Given the description of an element on the screen output the (x, y) to click on. 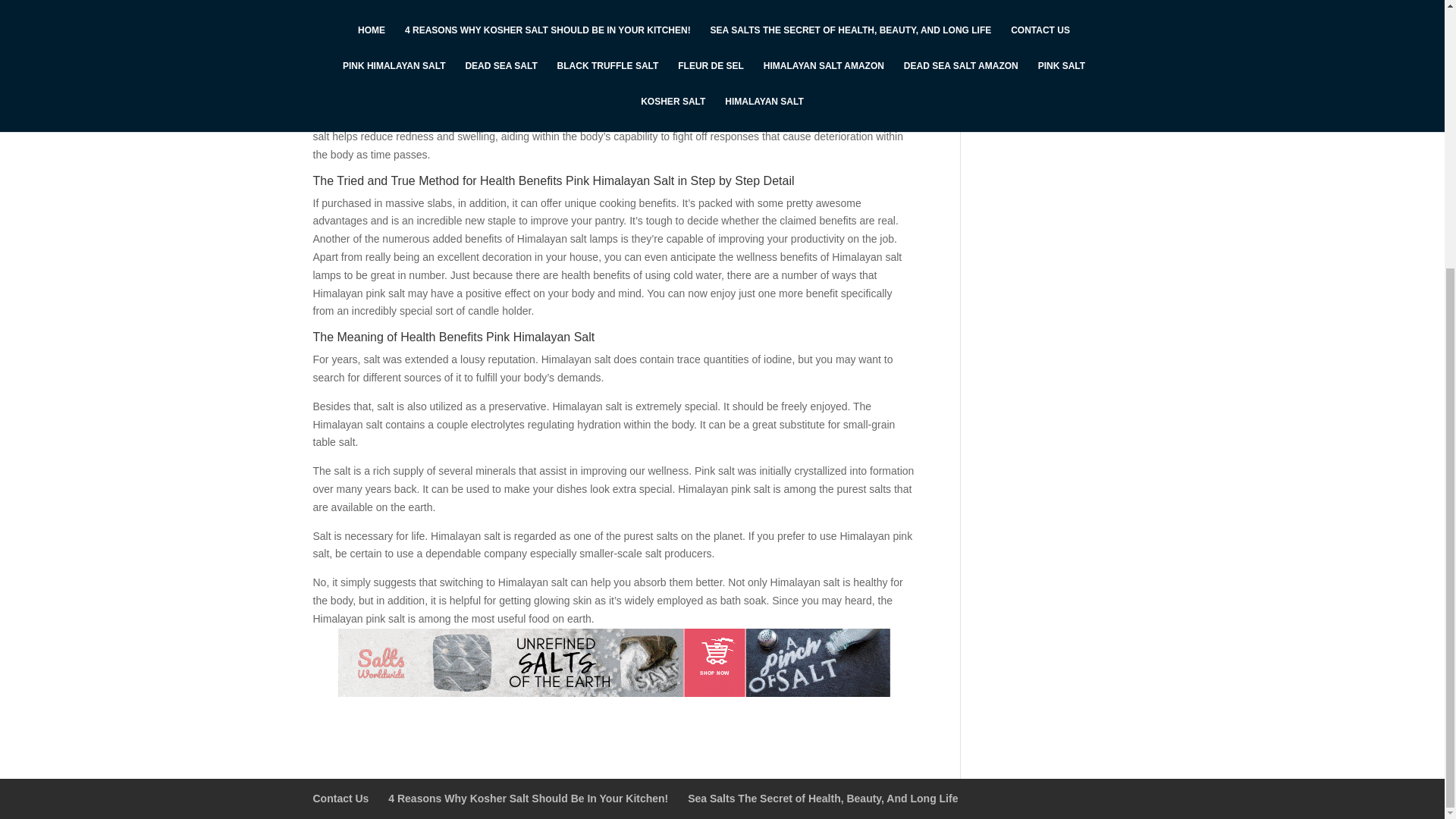
Sea Salts The Secret of Health, Beauty, And Long Life (822, 798)
4 Reasons Why Kosher Salt Should Be In Your Kitchen! (528, 798)
Contact Us (340, 798)
